Given the description of an element on the screen output the (x, y) to click on. 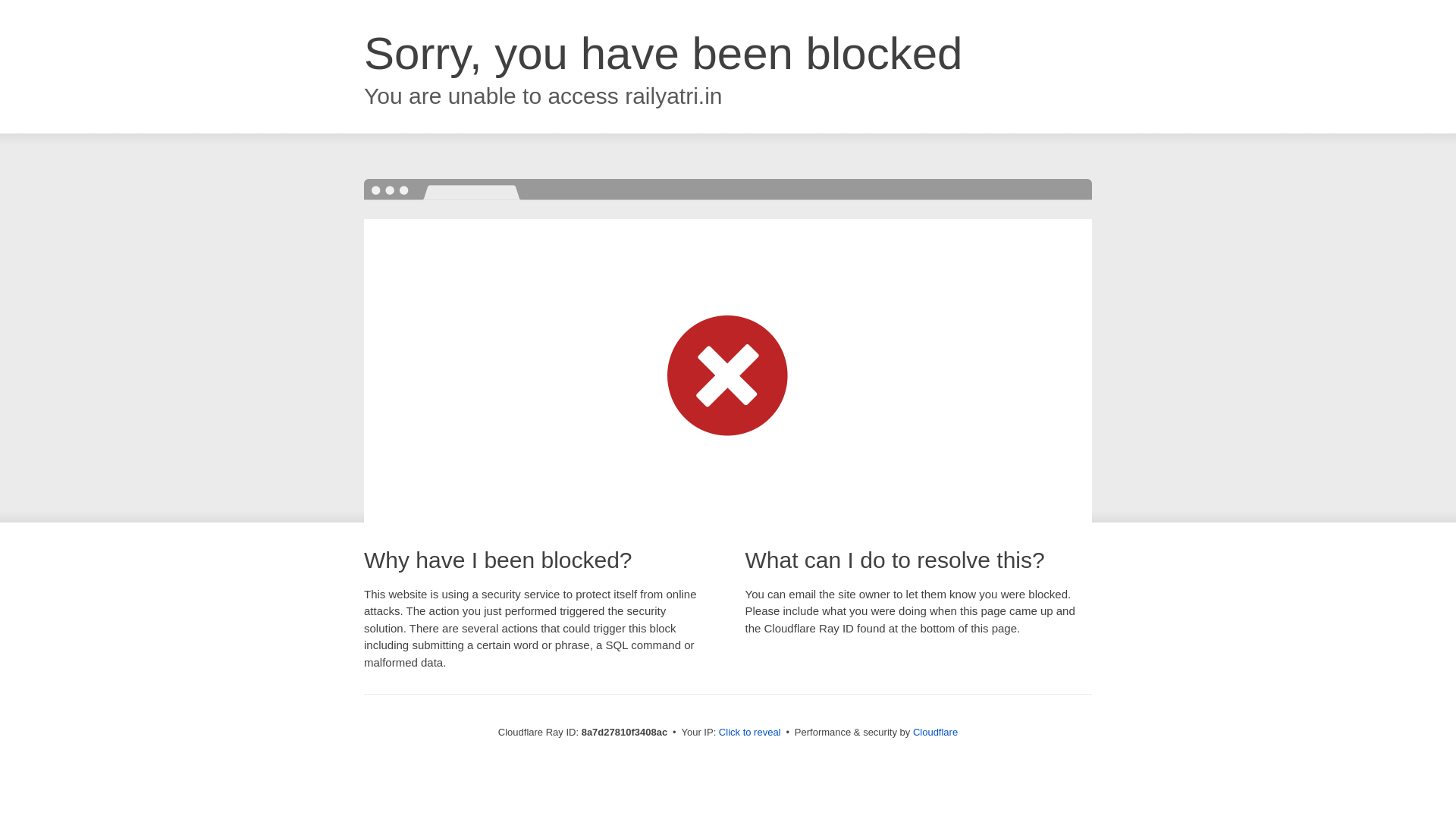
Click to reveal (749, 732)
Cloudflare (935, 731)
